Given the description of an element on the screen output the (x, y) to click on. 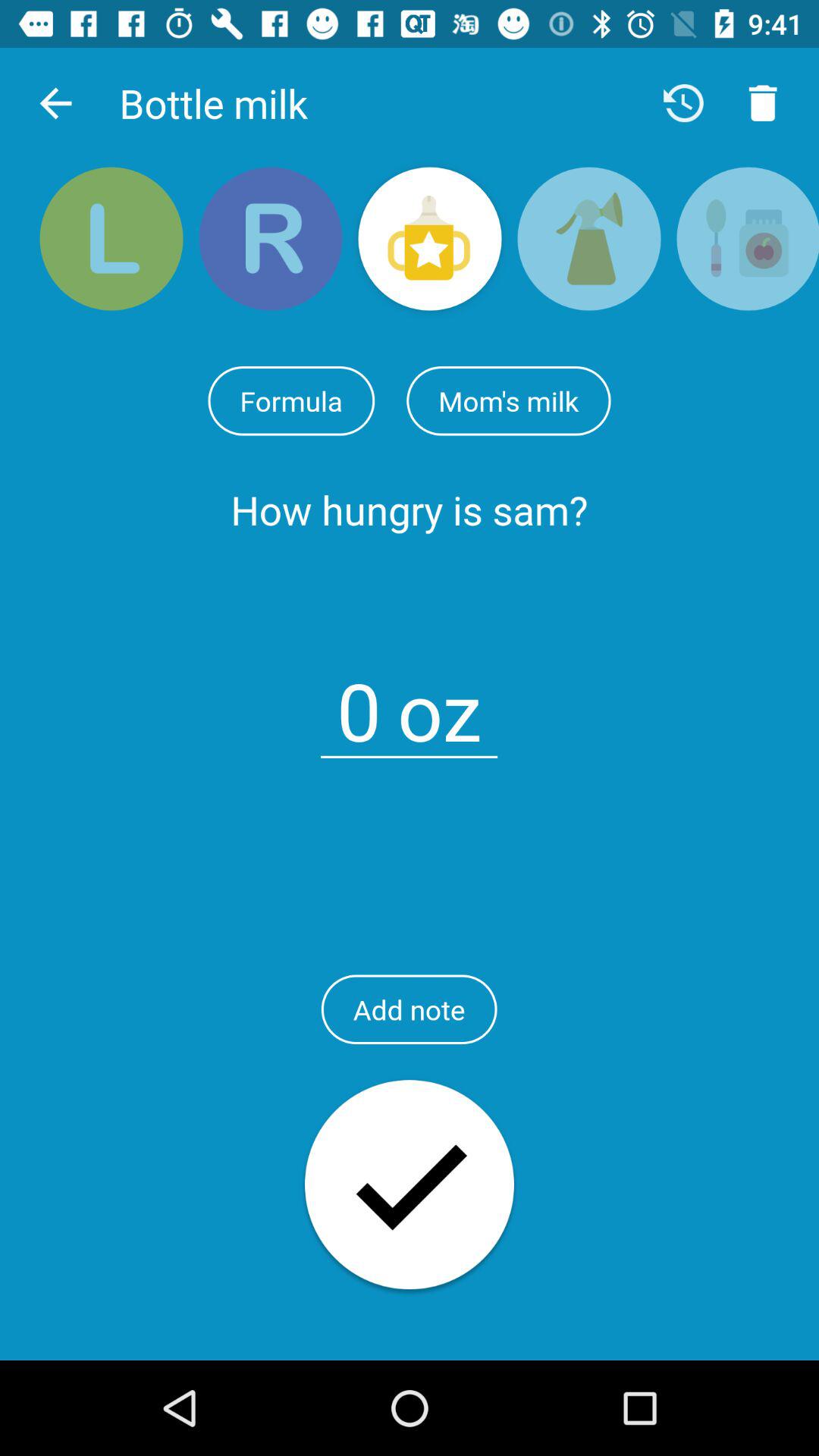
swipe until the add note (409, 1009)
